Given the description of an element on the screen output the (x, y) to click on. 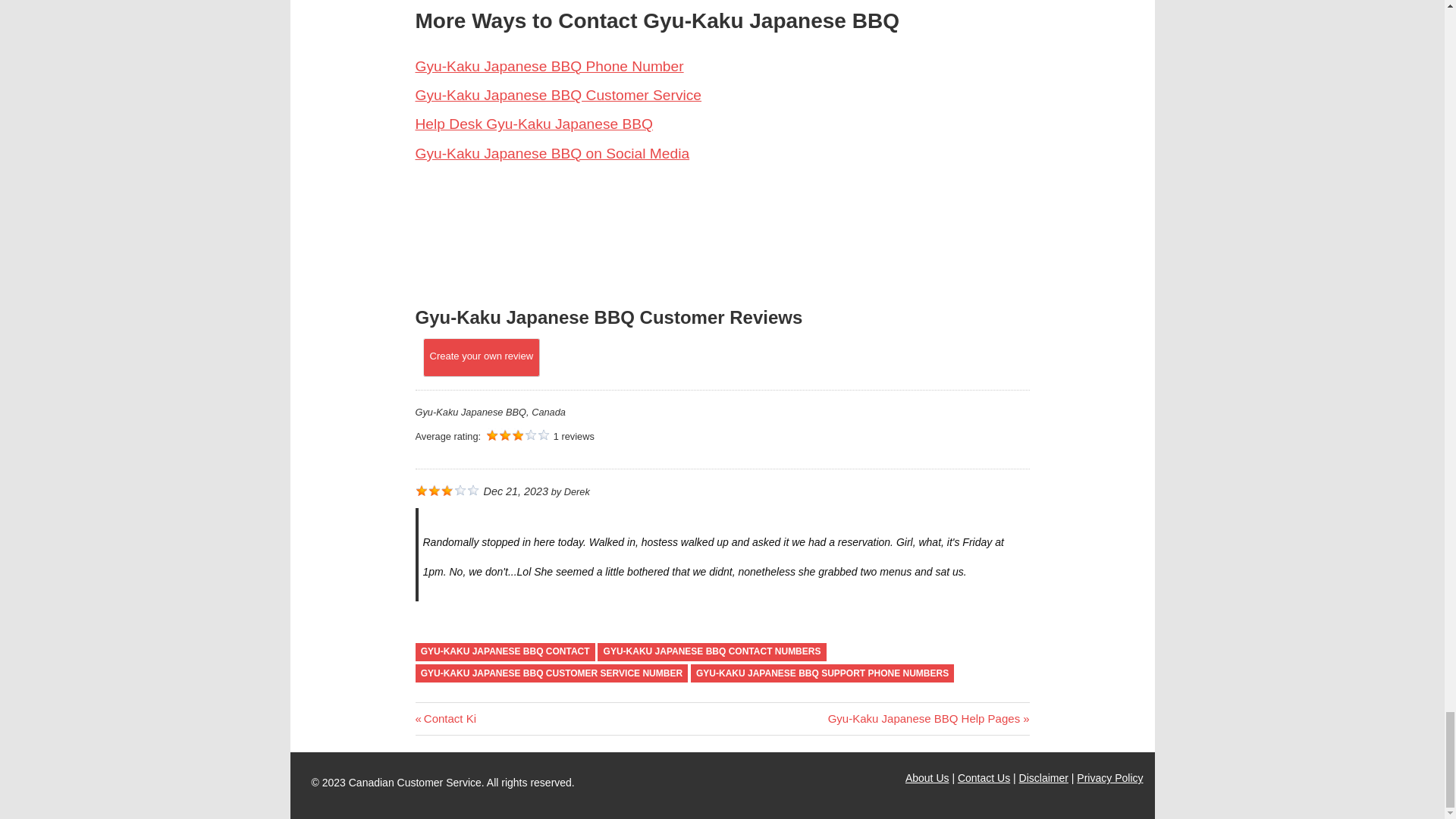
Disclaimer (1043, 777)
Gyu-Kaku Japanese BBQ Customer Service (557, 94)
GYU-KAKU JAPANESE BBQ CONTACT (504, 651)
Privacy Policy (1109, 777)
About Us (927, 777)
Help Desk Gyu-Kaku Japanese BBQ (533, 123)
Contact Us (984, 777)
Gyu-Kaku Japanese BBQ on Social Media (552, 153)
GYU-KAKU JAPANESE BBQ CONTACT NUMBERS (710, 651)
Gyu-Kaku Japanese BBQ Phone Number (549, 66)
